Given the description of an element on the screen output the (x, y) to click on. 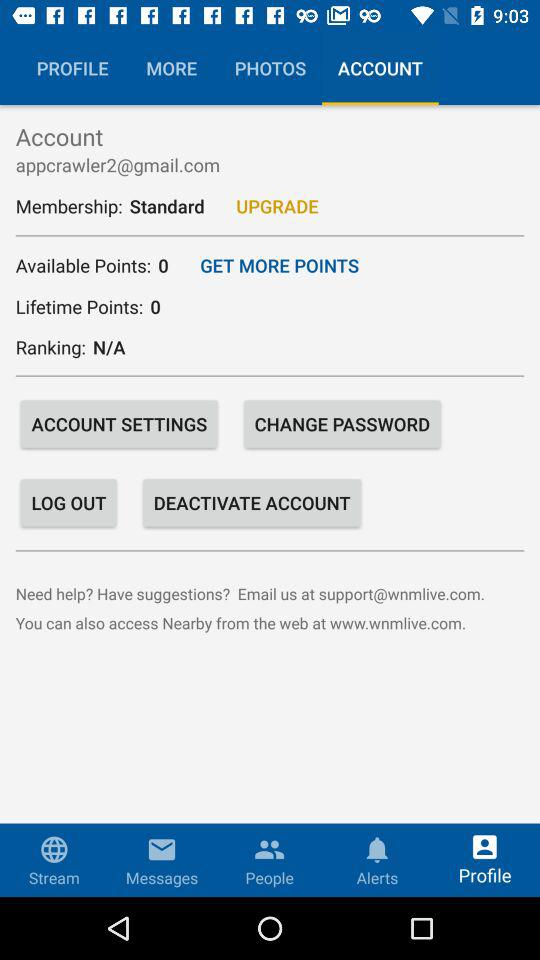
select the icon above the log out icon (119, 423)
